Given the description of an element on the screen output the (x, y) to click on. 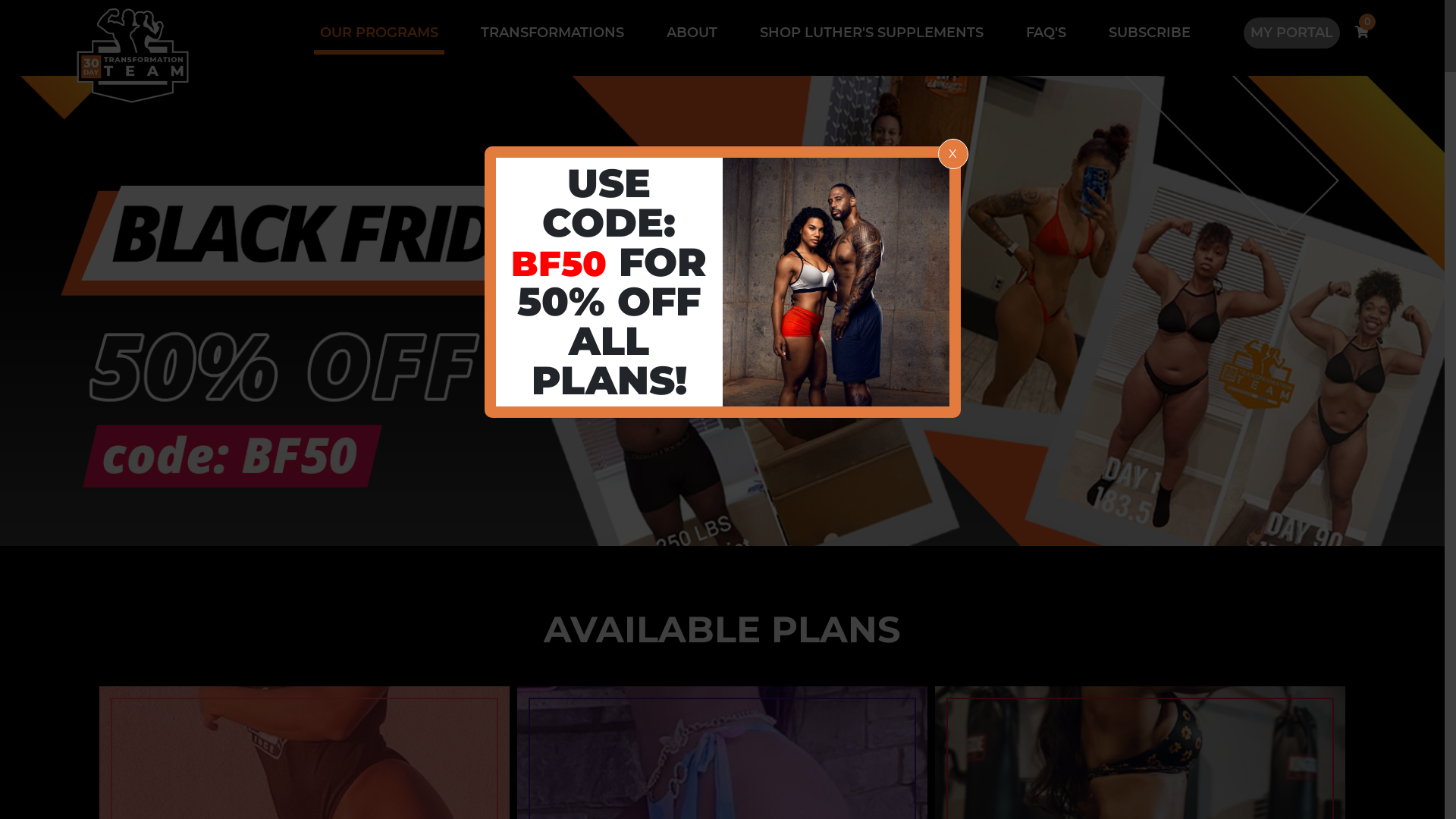
OUR PROGRAMS Element type: text (378, 35)
ABOUT Element type: text (691, 35)
MY PORTAL Element type: text (1291, 32)
SHOP LUTHER'S SUPPLEMENTS Element type: text (871, 35)
FAQ'S Element type: text (1045, 35)
X Element type: text (952, 153)
SUBSCRIBE Element type: text (1149, 35)
0 Element type: text (1361, 31)
TRANSFORMATIONS Element type: text (552, 35)
